Given the description of an element on the screen output the (x, y) to click on. 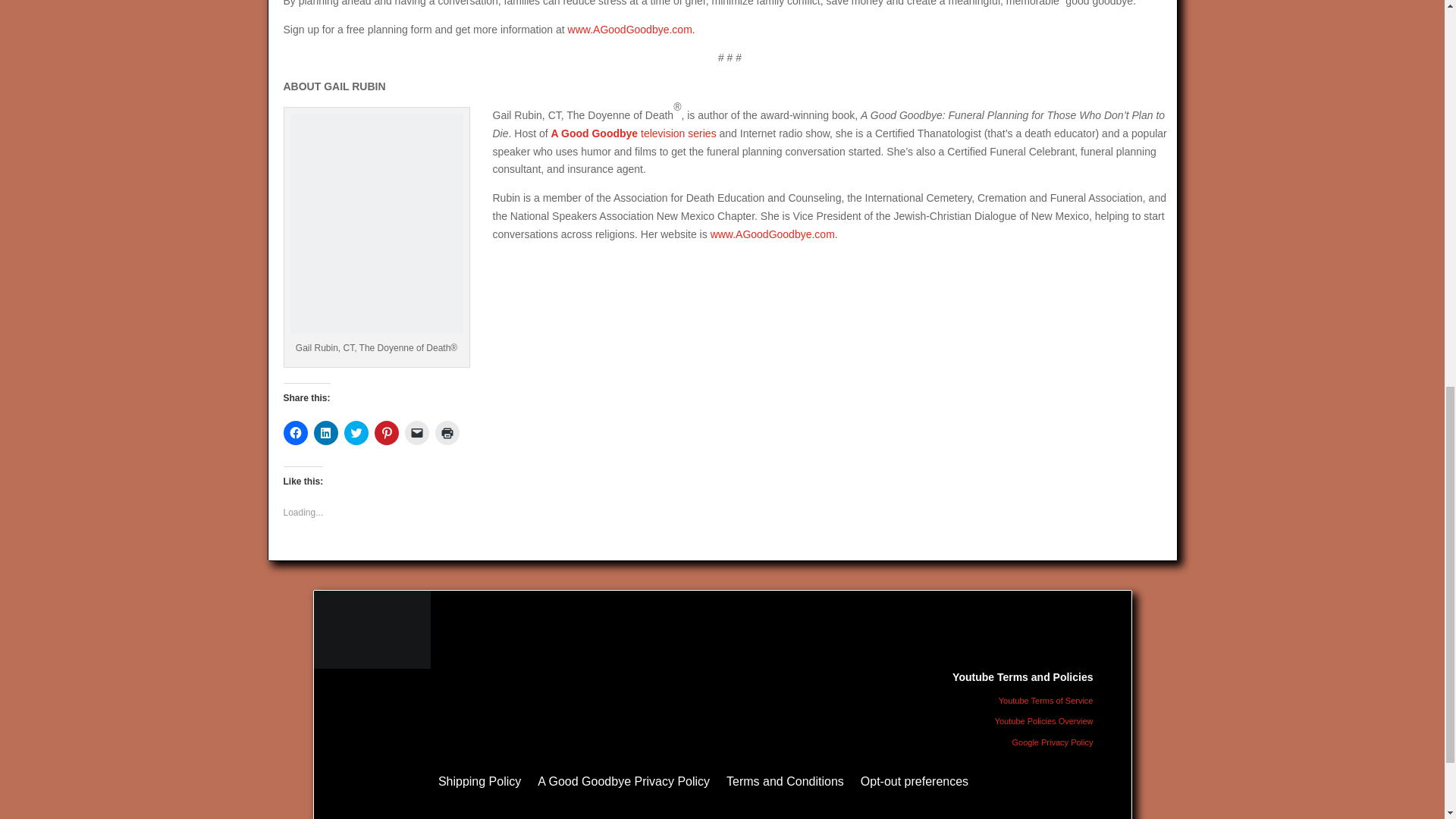
Click to share on Pinterest (386, 432)
Click to share on LinkedIn (325, 432)
Click to email a link to a friend (416, 432)
Click to share on Twitter (355, 432)
Click to share on Facebook (295, 432)
Click to print (447, 432)
